Given the description of an element on the screen output the (x, y) to click on. 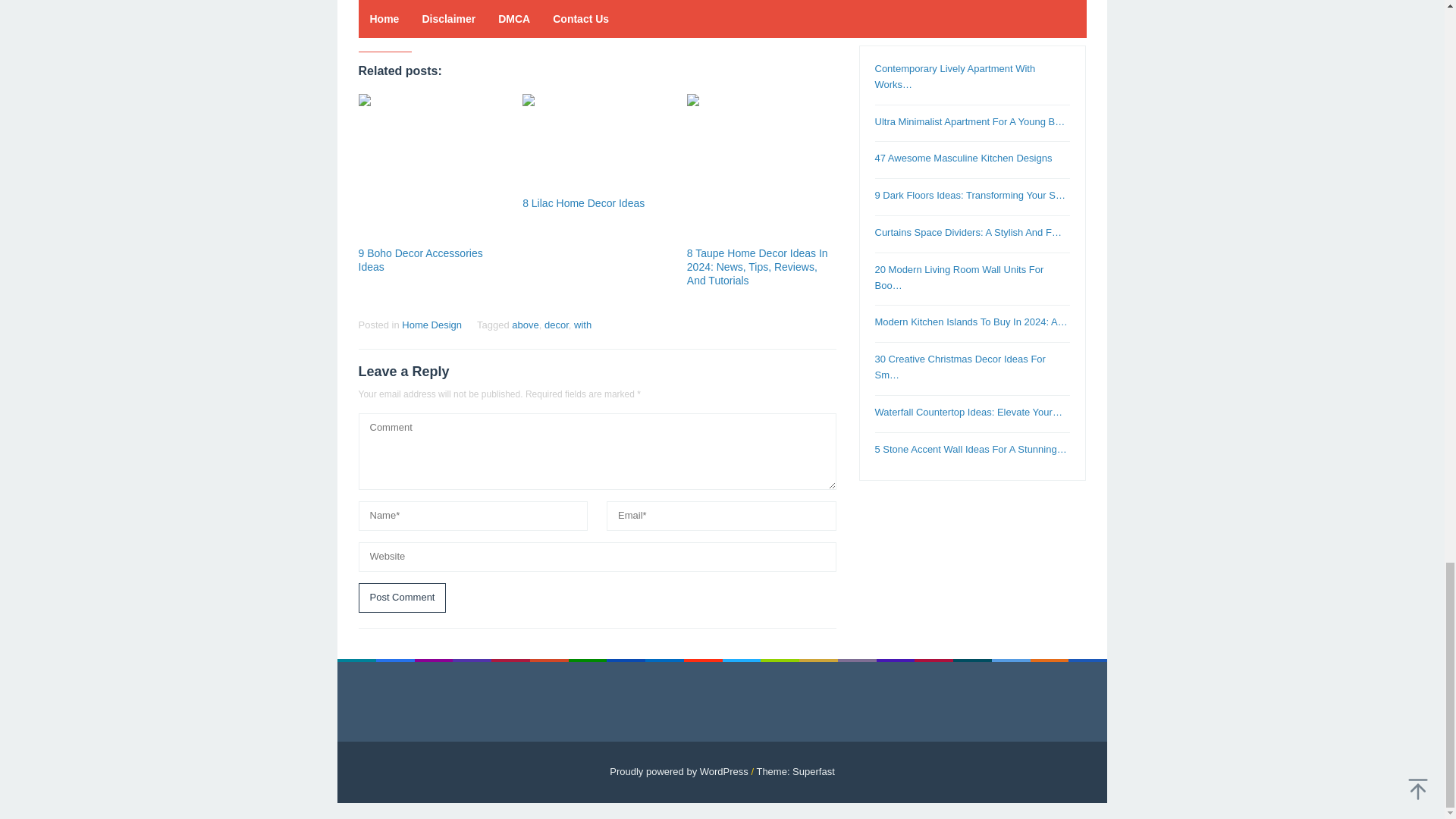
Permalink to: 9 Boho Decor Accessories Ideas (419, 259)
Pin this (421, 24)
Telegram Share (449, 24)
Post Comment (401, 597)
9 Boho Decor Accessories Ideas (419, 259)
Permalink to: 9 Boho Decor Accessories Ideas (432, 168)
Proudly powered by WordPress (679, 771)
8 Lilac Home Decor Ideas (583, 203)
above (525, 324)
with (582, 324)
Permalink to: 8 Lilac Home Decor Ideas (583, 203)
Home Design (431, 324)
